Given the description of an element on the screen output the (x, y) to click on. 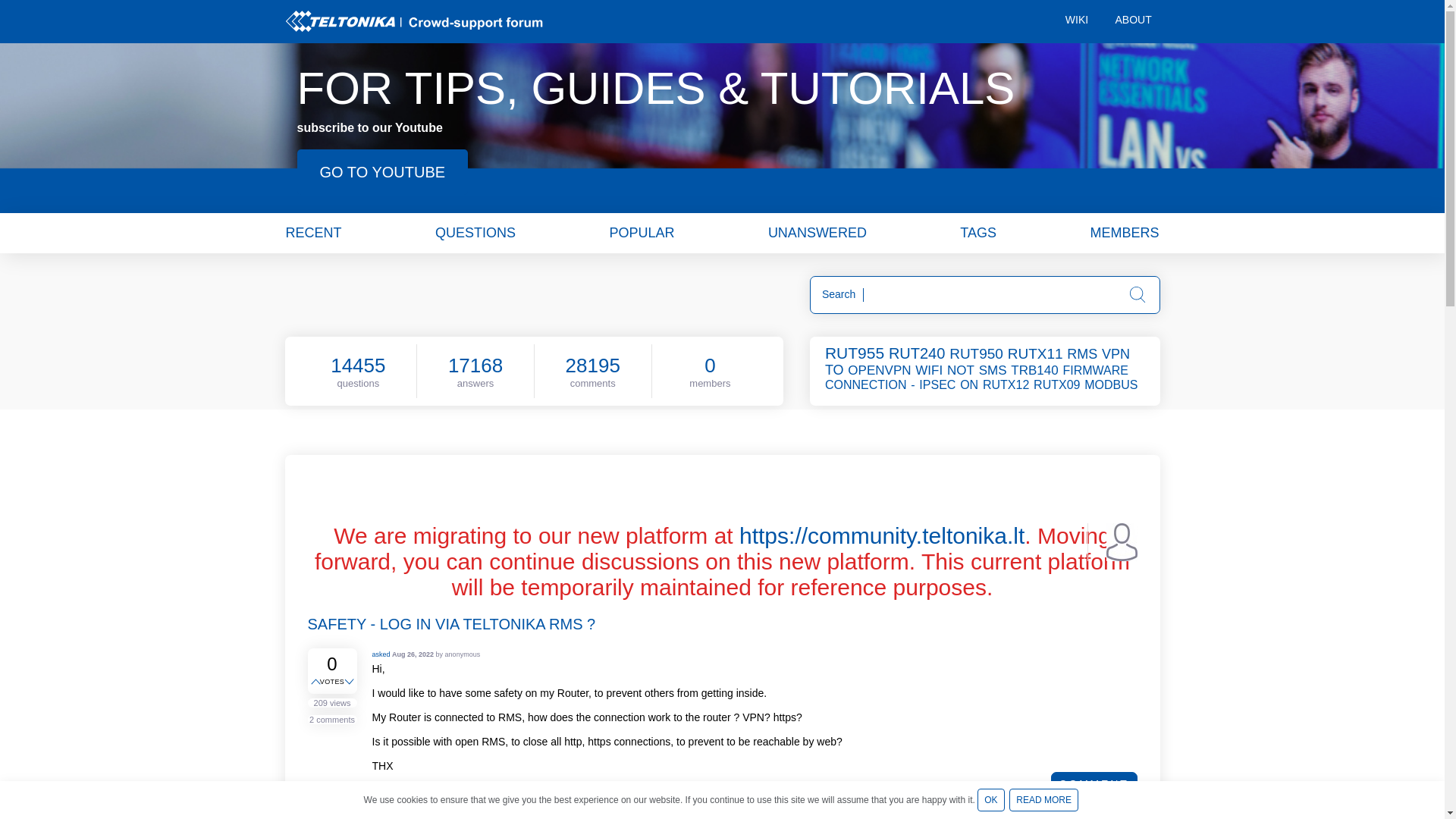
ABOUT (1131, 21)
RUT950 (977, 353)
RUT955 (855, 352)
GO TO YOUTUBE (382, 171)
RUT240 (917, 352)
POPULAR (641, 232)
NOT (961, 370)
CONNECTION (866, 384)
asked (380, 654)
Click to vote up (317, 682)
RECENT (312, 232)
WIFI (929, 370)
ON (969, 384)
WIKI (1077, 21)
RUTX09 (1057, 384)
